Given the description of an element on the screen output the (x, y) to click on. 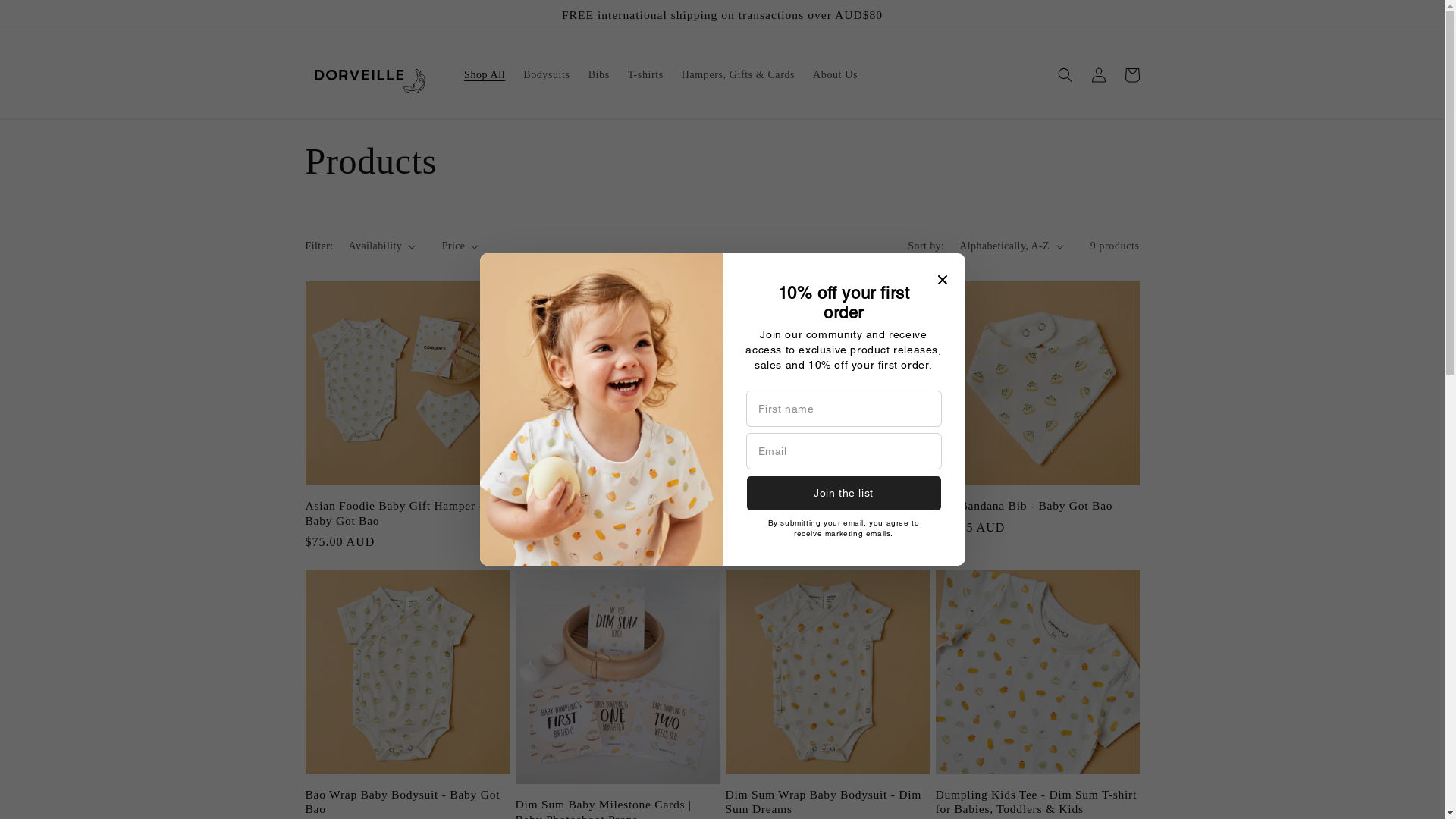
Hampers, Gifts & Cards Element type: text (737, 75)
Asian Foodie Baby Gift Hamper - Baby Got Bao Element type: text (406, 512)
Bao Bandana Bib - Baby Got Bao Element type: text (1037, 505)
Log in Element type: text (1097, 74)
Cart Element type: text (1131, 74)
About Us Element type: text (834, 75)
Bibs Element type: text (598, 75)
Asian Foodie Baby Gift Hamper - Dim Sum Dreams Element type: text (617, 512)
T-shirts Element type: text (645, 75)
Bodysuits Element type: text (546, 75)
Dim Sum Wrap Baby Bodysuit - Dim Sum Dreams Element type: text (826, 801)
Bao Wrap Baby Bodysuit - Baby Got Bao Element type: text (406, 801)
Bandana Bib - Dim Sum Dreams Element type: text (826, 505)
Shop All Element type: text (484, 75)
